Given the description of an element on the screen output the (x, y) to click on. 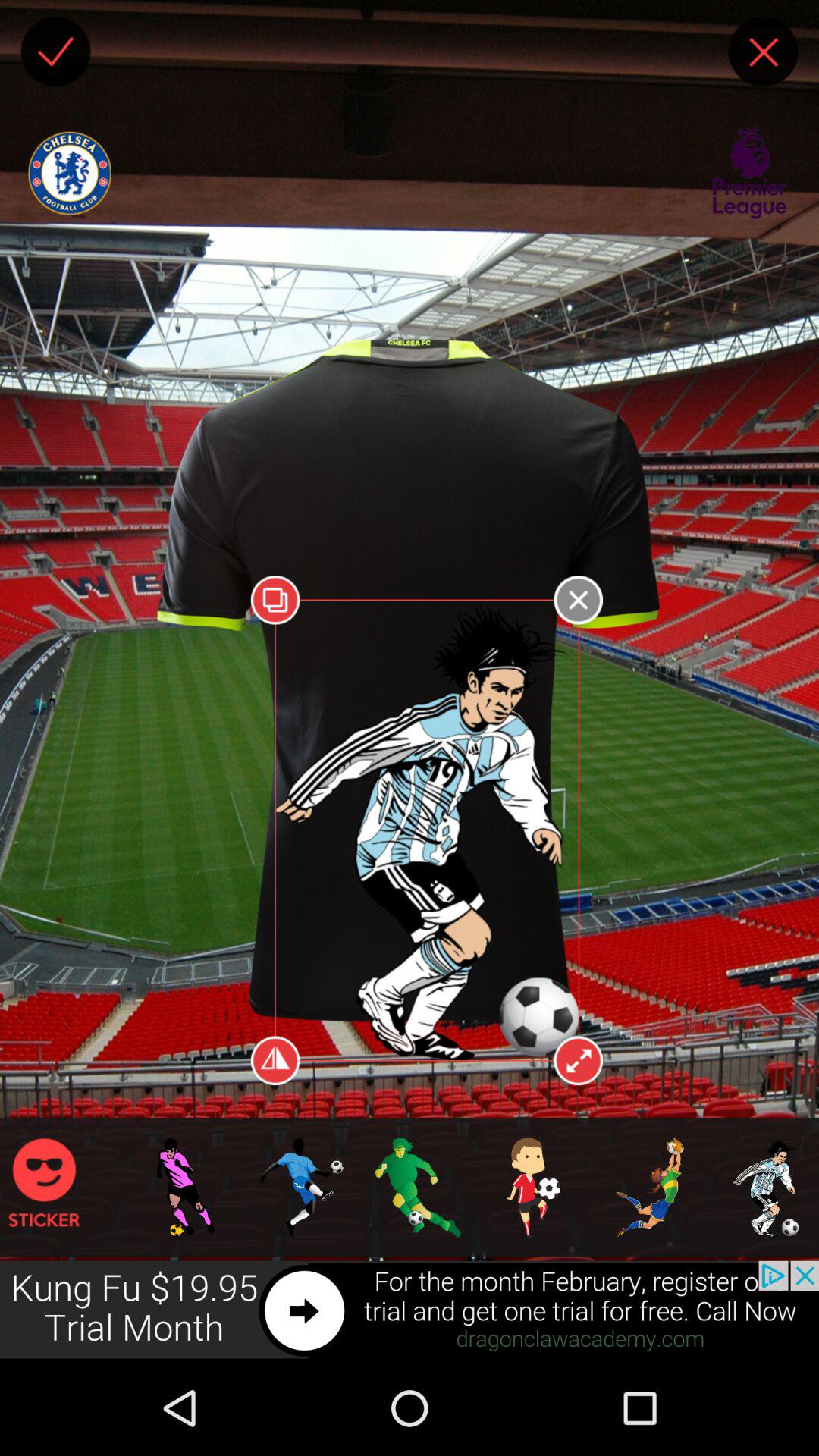
selected drill (684, 1207)
